Given the description of an element on the screen output the (x, y) to click on. 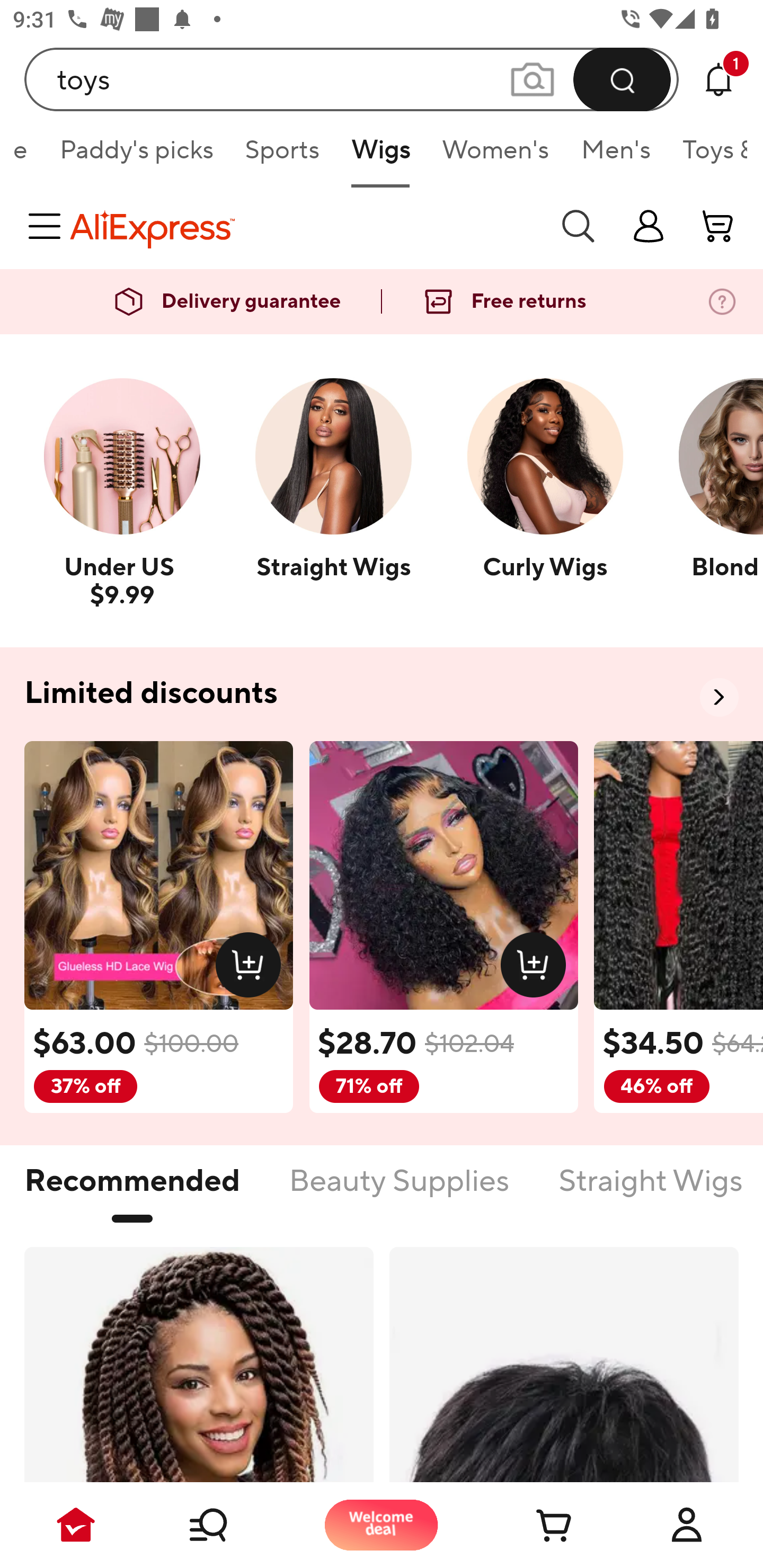
toys (351, 79)
Paddy's picks (135, 155)
Sports (281, 155)
Women's (495, 155)
Men's (615, 155)
aliexpress (305, 225)
category (47, 225)
shop (648, 225)
account (718, 225)
Limited discounts  Limited discounts (381, 694)
128x128.png_ (252, 967)
128x128.png_ (536, 967)
Recommended (132, 1191)
Beauty Supplies (398, 1191)
Straight Wigs (650, 1191)
Shop (228, 1524)
Cart (533, 1524)
Account (686, 1524)
